Given the description of an element on the screen output the (x, y) to click on. 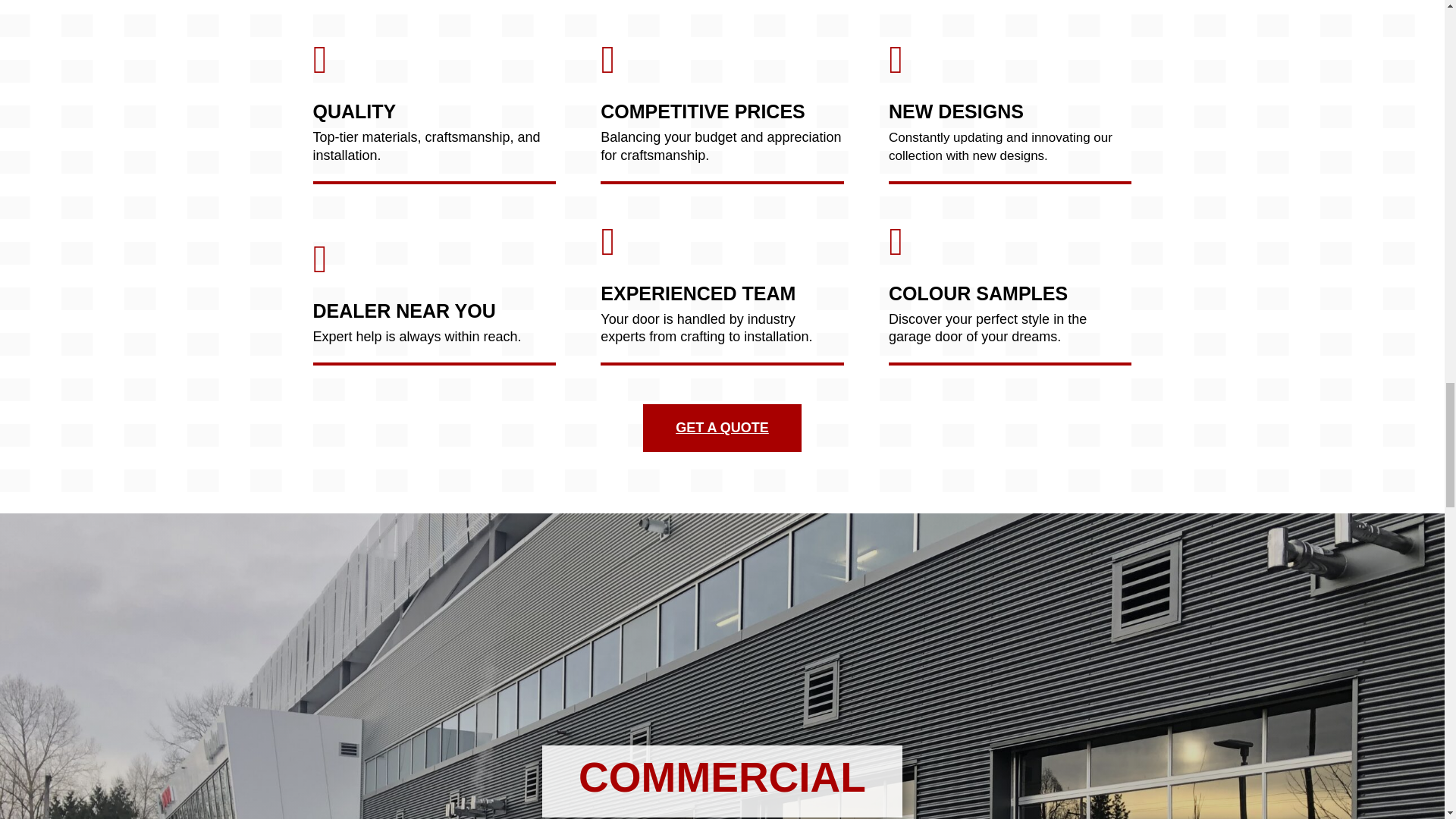
Balancing your budget and appreciation for craftsmanship. (721, 146)
Balancing your budget and appreciation for craftsmanship. (721, 146)
Balancing your budget and appreciation for craftsmanship. (721, 146)
GET A QUOTE (722, 428)
